Given the description of an element on the screen output the (x, y) to click on. 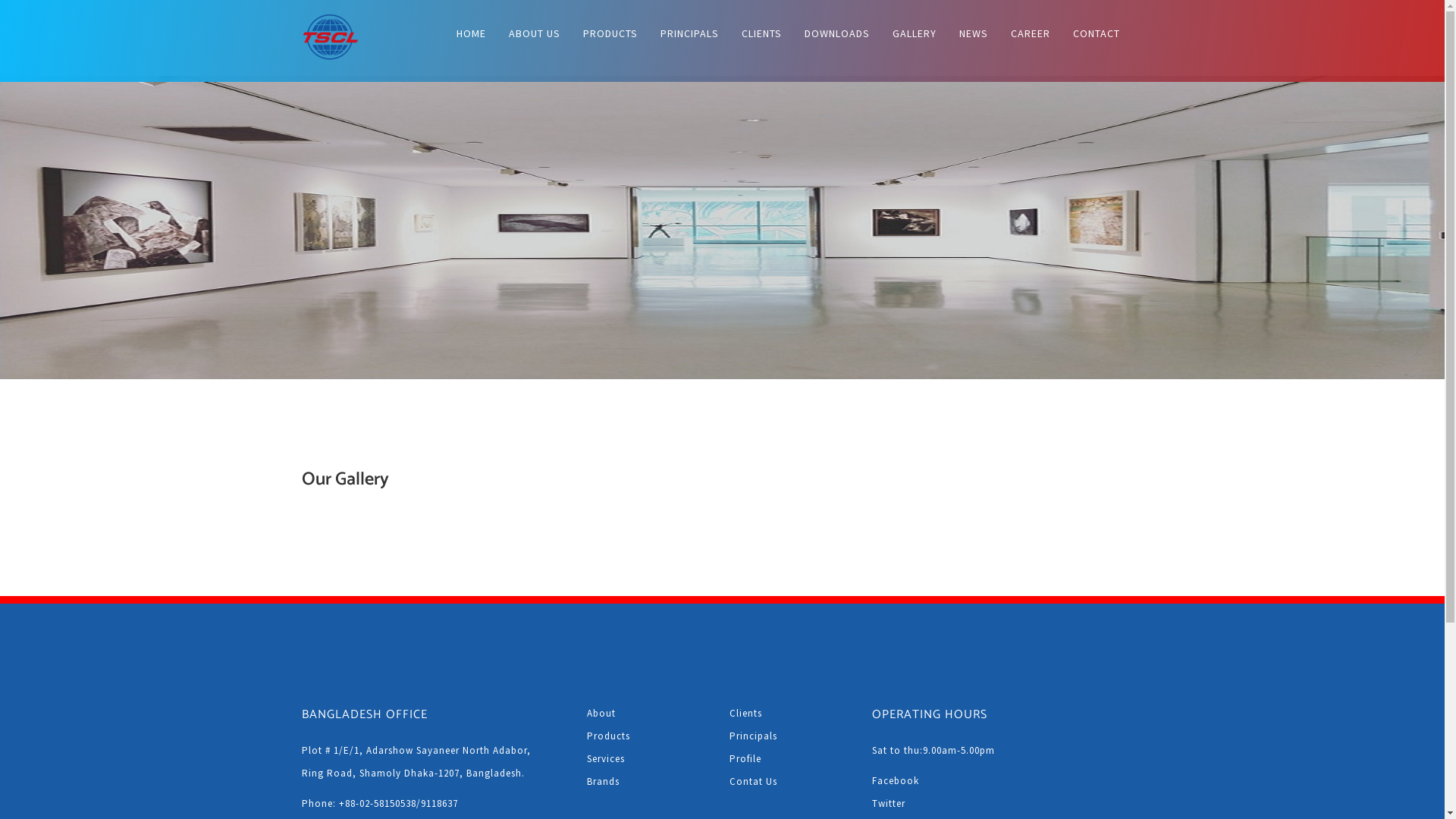
Facebook Element type: text (1003, 780)
Principals Element type: text (789, 735)
PRODUCTS Element type: text (610, 33)
Twitter Element type: text (1003, 803)
PRINCIPALS Element type: text (689, 33)
Clients Element type: text (789, 713)
Brands Element type: text (646, 781)
About Element type: text (646, 713)
Contat Us Element type: text (789, 781)
CAREER Element type: text (1030, 33)
GALLERY Element type: text (914, 33)
Products Element type: text (646, 735)
Services Element type: text (646, 758)
Profile Element type: text (789, 758)
DOWNLOADS Element type: text (837, 33)
HOME Element type: text (470, 33)
NEWS Element type: text (973, 33)
ABOUT US Element type: text (534, 33)
CLIENTS Element type: text (760, 33)
CONTACT Element type: text (1096, 33)
